Given the description of an element on the screen output the (x, y) to click on. 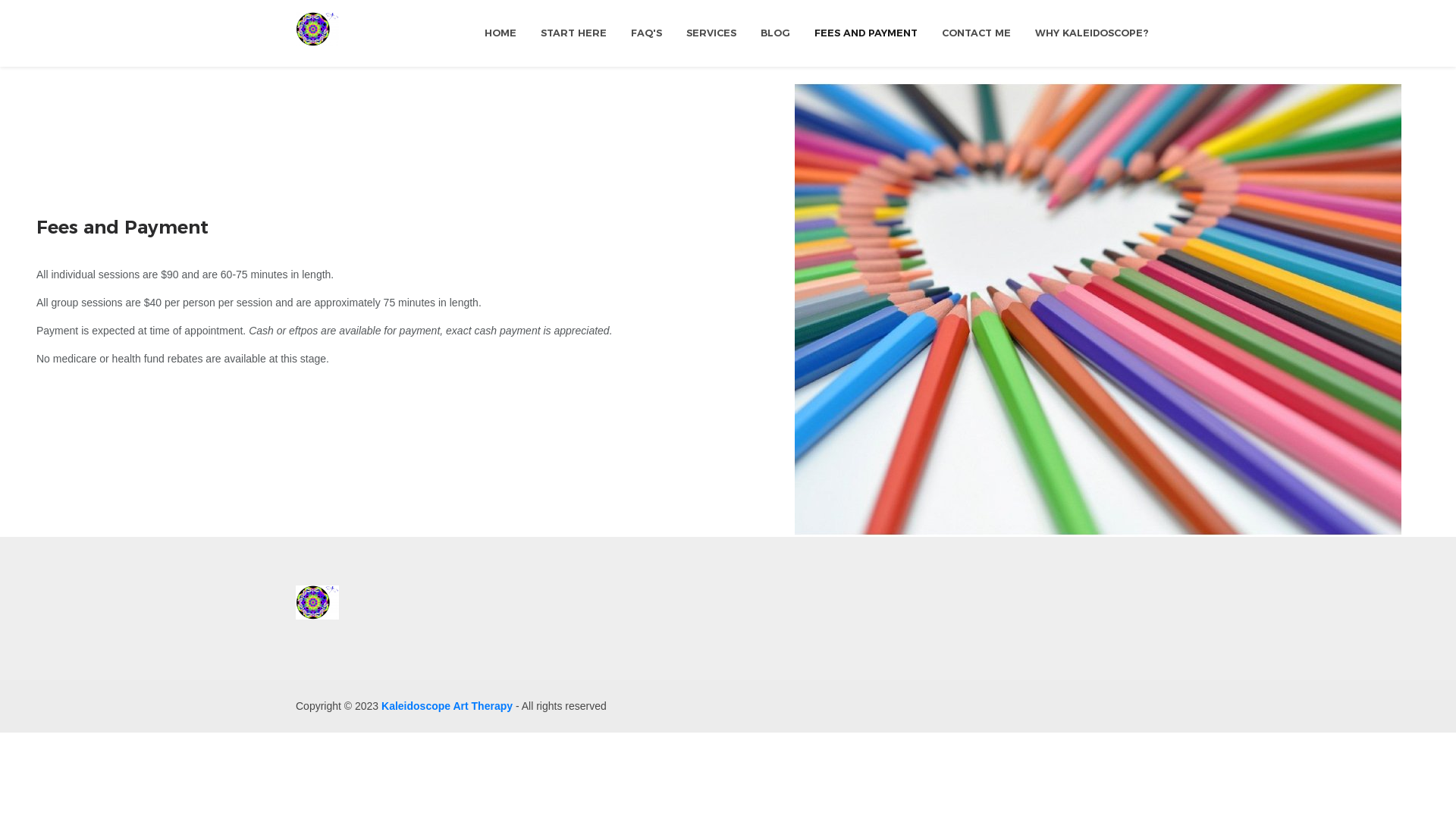
CONTACT ME Element type: text (975, 33)
SERVICES Element type: text (711, 33)
BLOG Element type: text (775, 33)
FEES AND PAYMENT Element type: text (865, 33)
FAQ'S Element type: text (646, 33)
HOME Element type: text (500, 33)
WHY KALEIDOSCOPE? Element type: text (1091, 33)
Kaleidoscope Art Therapy Element type: text (448, 705)
START HERE Element type: text (573, 33)
